Given the description of an element on the screen output the (x, y) to click on. 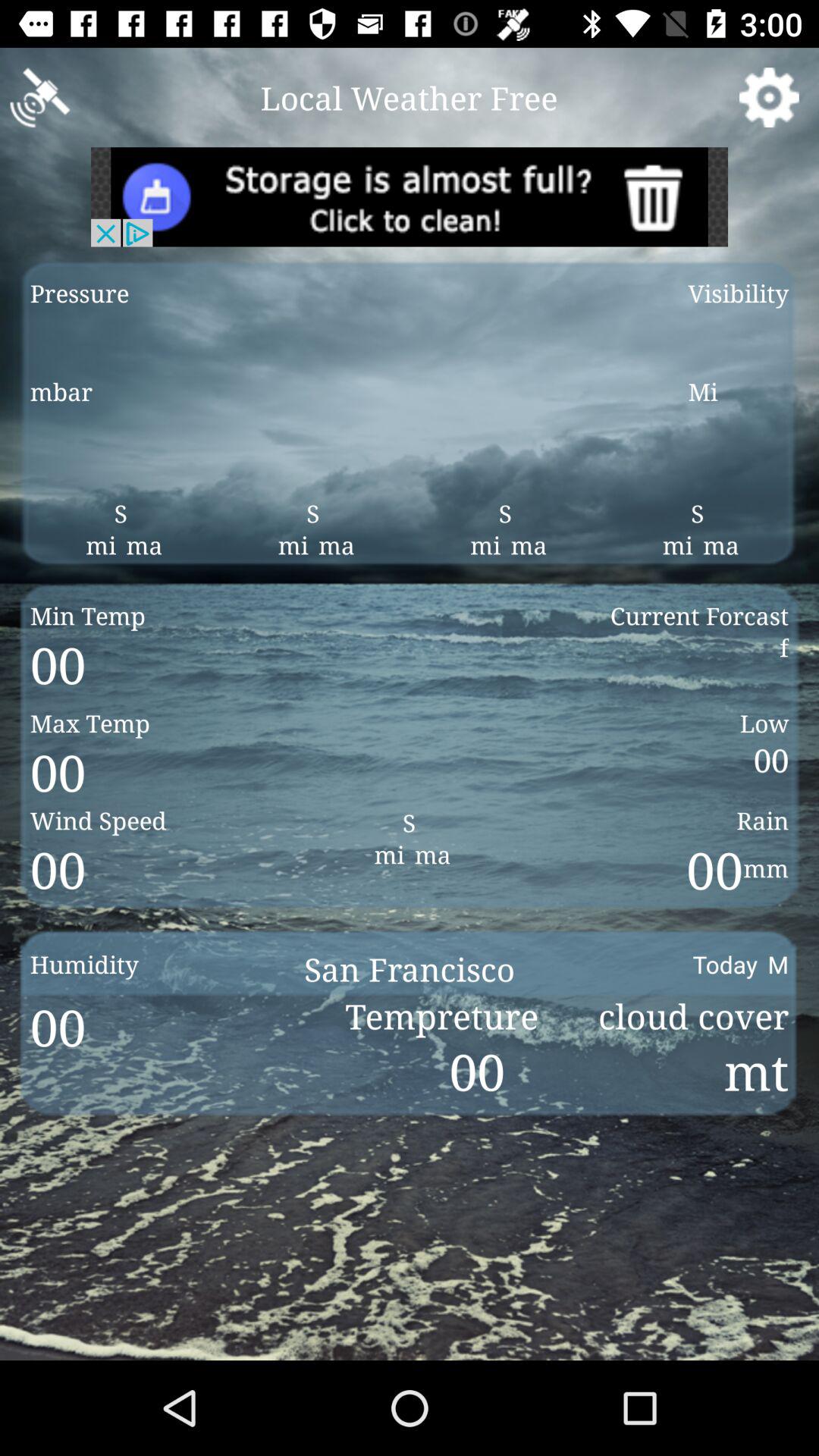
choose icon above the visibility app (769, 97)
